Given the description of an element on the screen output the (x, y) to click on. 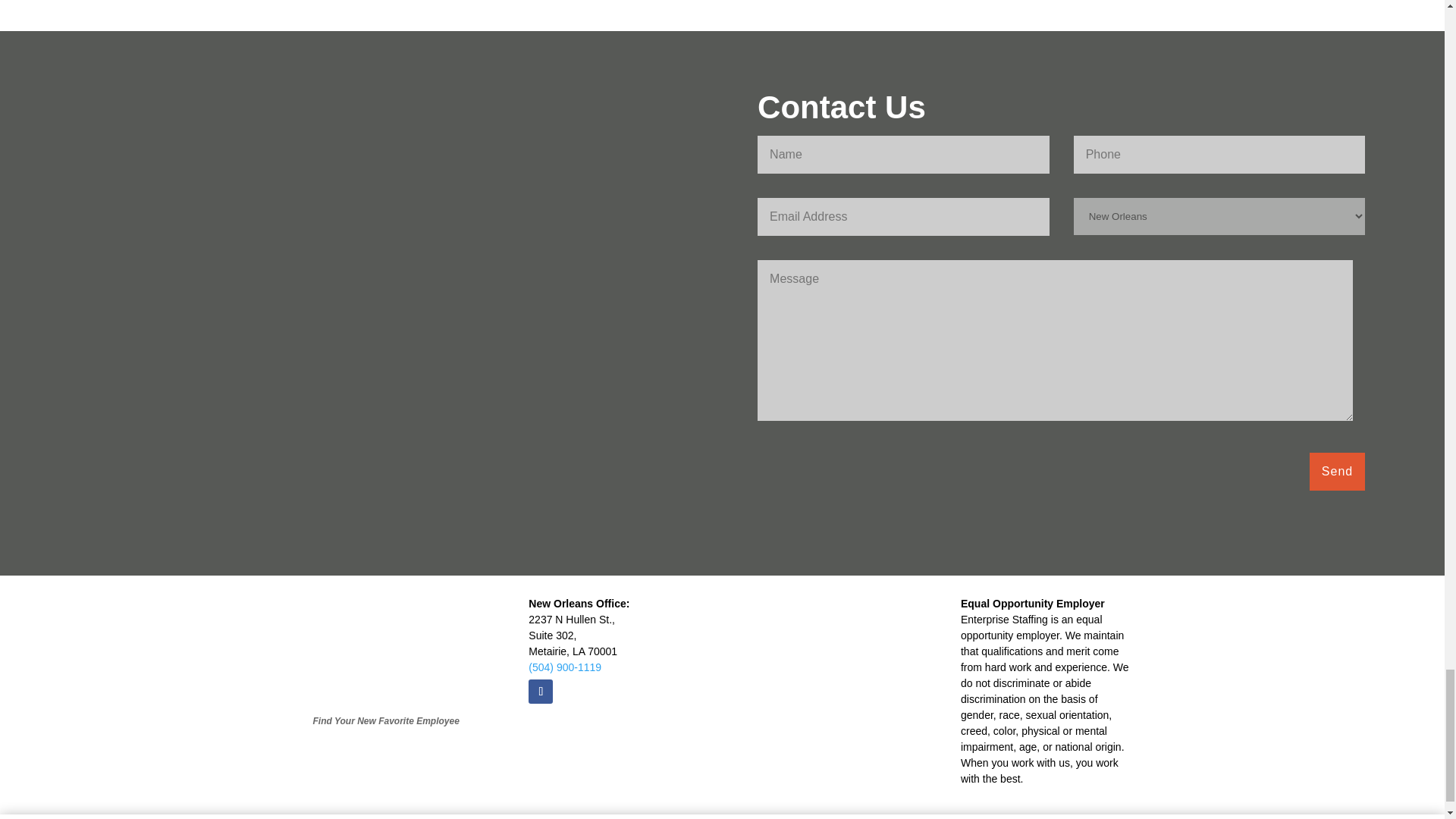
Follow on Facebook (540, 691)
Send (1336, 471)
Send (1336, 471)
